Given the description of an element on the screen output the (x, y) to click on. 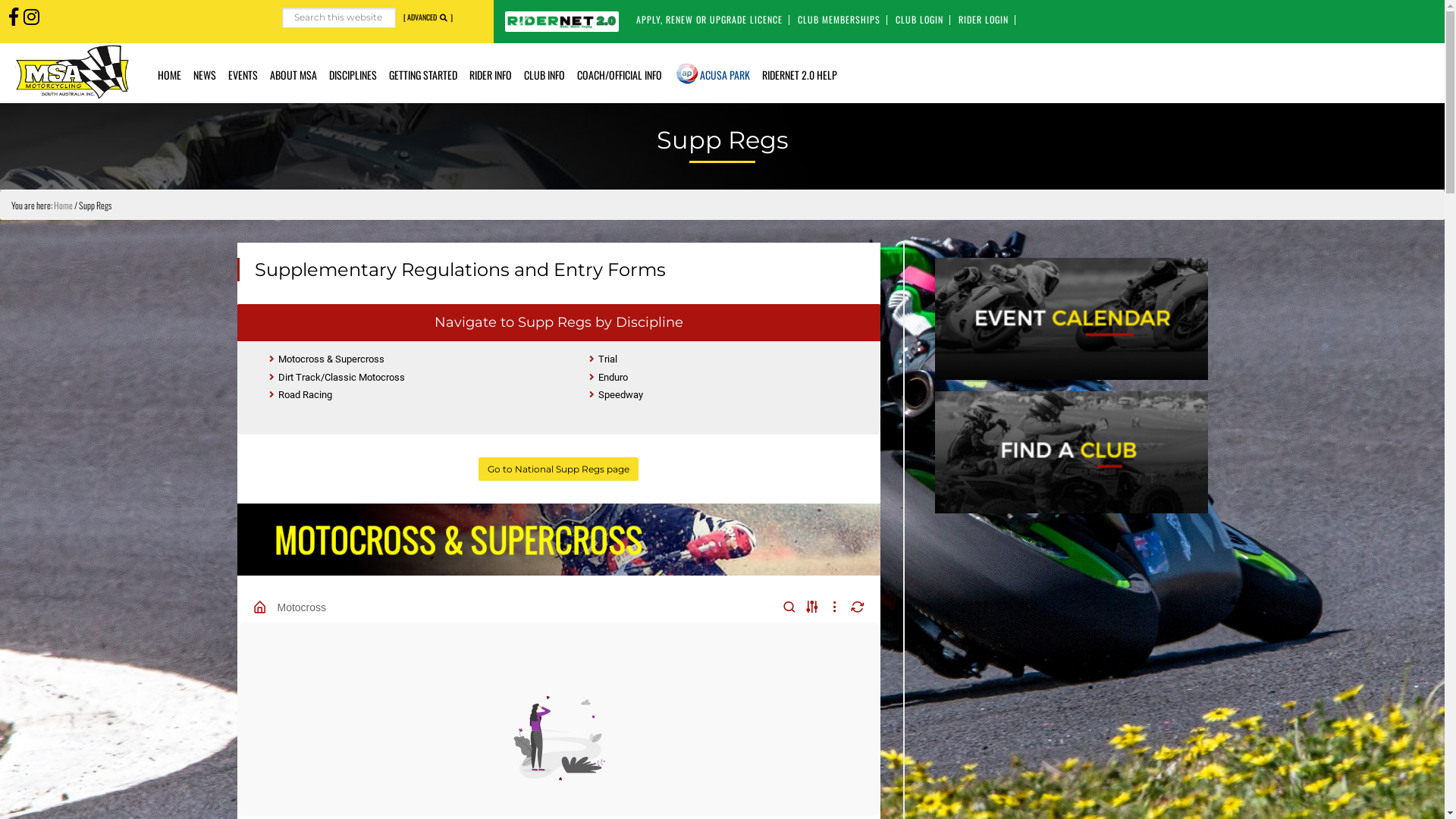
Motorcycling SA Element type: text (71, 71)
DISCIPLINES Element type: text (352, 73)
Home Element type: text (62, 204)
Dirt Track/Classic Motocross Element type: text (336, 376)
RIDER INFO Element type: text (490, 73)
Motocross Element type: text (301, 607)
EVENTS Element type: text (242, 73)
HOME Element type: text (169, 73)
CLUB MEMBERSHIPS Element type: text (838, 18)
RIDER LOGIN Element type: text (983, 18)
CLUB INFO Element type: text (544, 73)
Speedway Element type: text (616, 394)
Sort options Element type: hover (811, 607)
Enduro Element type: text (608, 376)
Go to National Supp Regs page Element type: text (558, 468)
ACUSA PARK Element type: text (724, 73)
NEWS Element type: text (204, 73)
RIDERNET 2.0 HELP Element type: text (799, 73)
More actions Element type: hover (834, 607)
Go back to the start folder Element type: hover (259, 607)
Motocross & Supercross Element type: text (326, 358)
Search Element type: text (395, 6)
CLUB LOGIN Element type: text (919, 18)
COACH/OFFICIAL INFO Element type: text (619, 73)
ABOUT MSA Element type: text (293, 73)
Trial Element type: text (603, 358)
Road Racing Element type: text (300, 394)
[ ADVANCED ] Element type: text (427, 16)
Refresh Element type: hover (857, 607)
GETTING STARTED Element type: text (422, 73)
Skip to primary navigation Element type: text (0, 0)
APPLY, RENEW OR UPGRADE LICENCE Element type: text (709, 18)
